Given the description of an element on the screen output the (x, y) to click on. 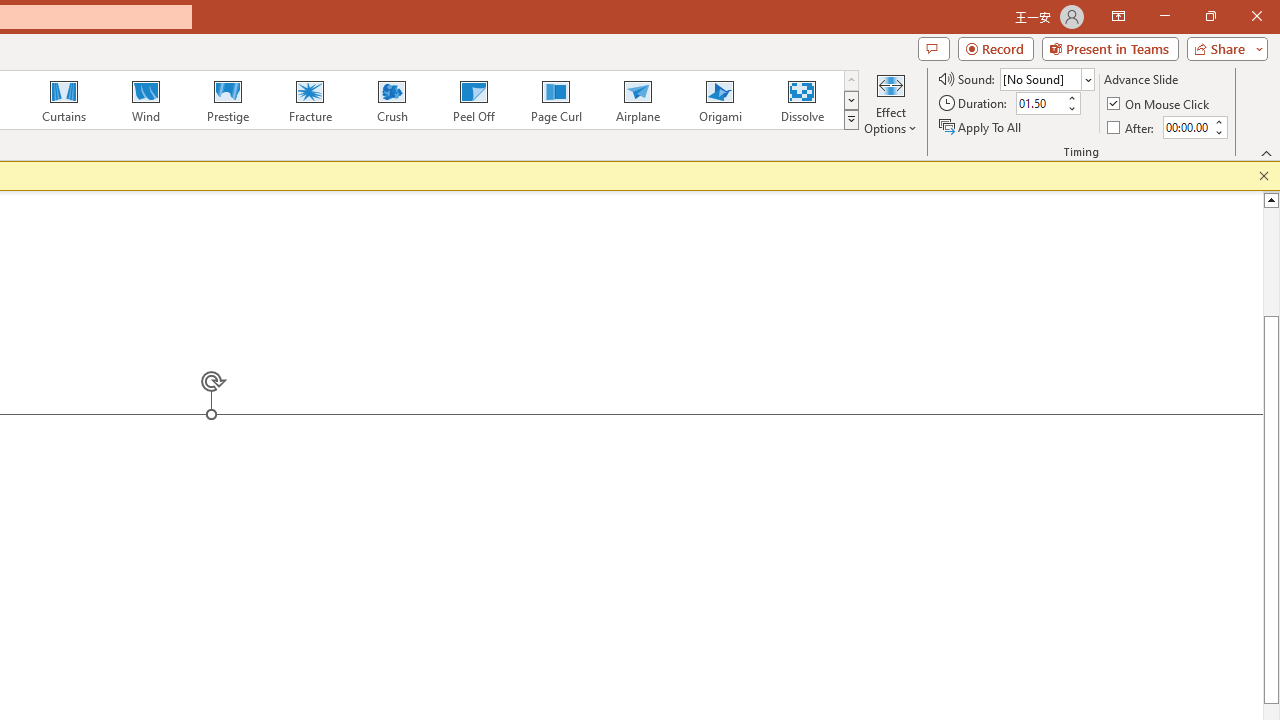
Page Curl (555, 100)
Wind (145, 100)
Transition Effects (850, 120)
